Given the description of an element on the screen output the (x, y) to click on. 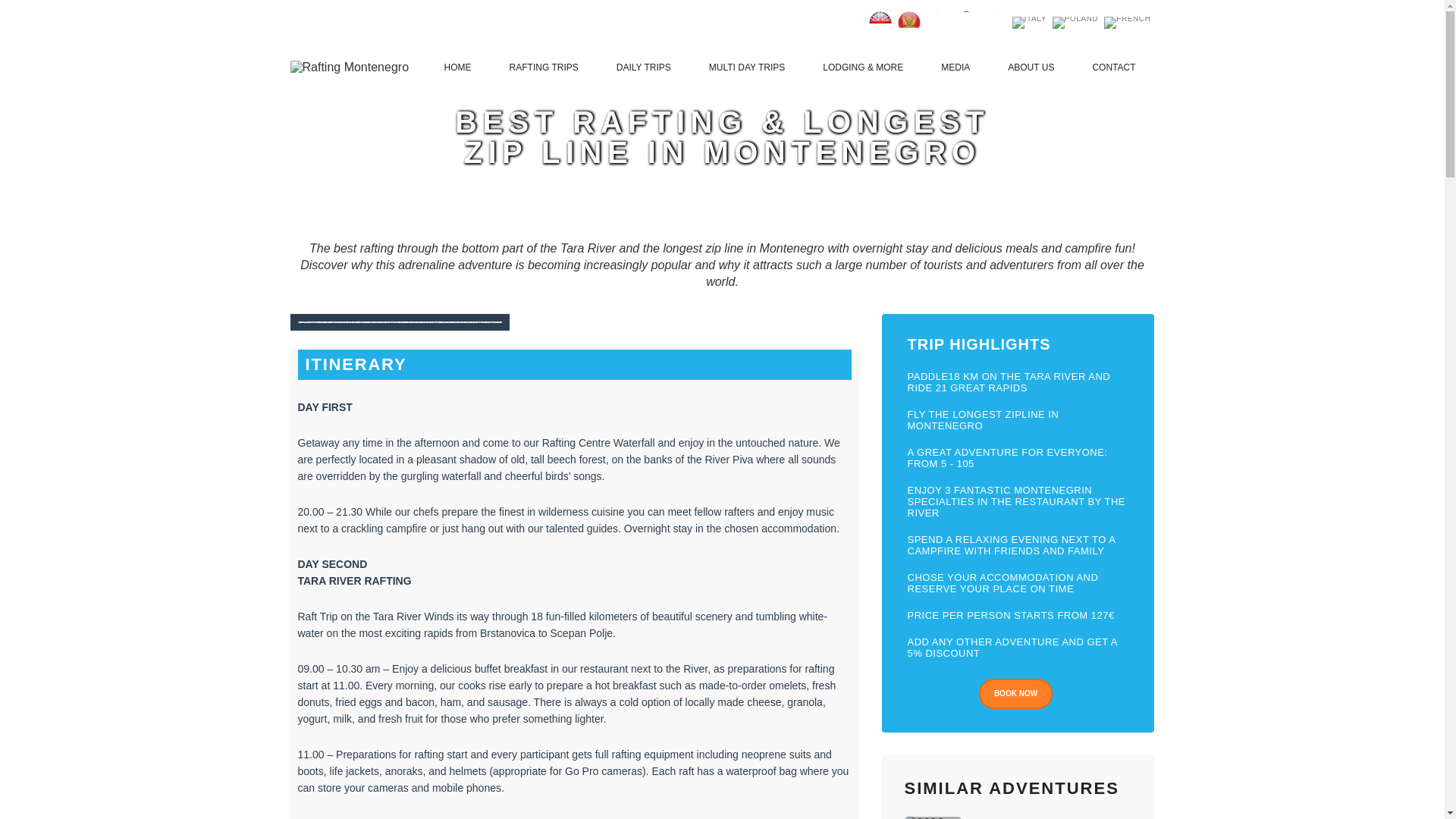
DAILY TRIPS (643, 67)
RAFTING TRIPS (543, 67)
MULTI DAY TRIPS (746, 67)
HOME (457, 67)
